Given the description of an element on the screen output the (x, y) to click on. 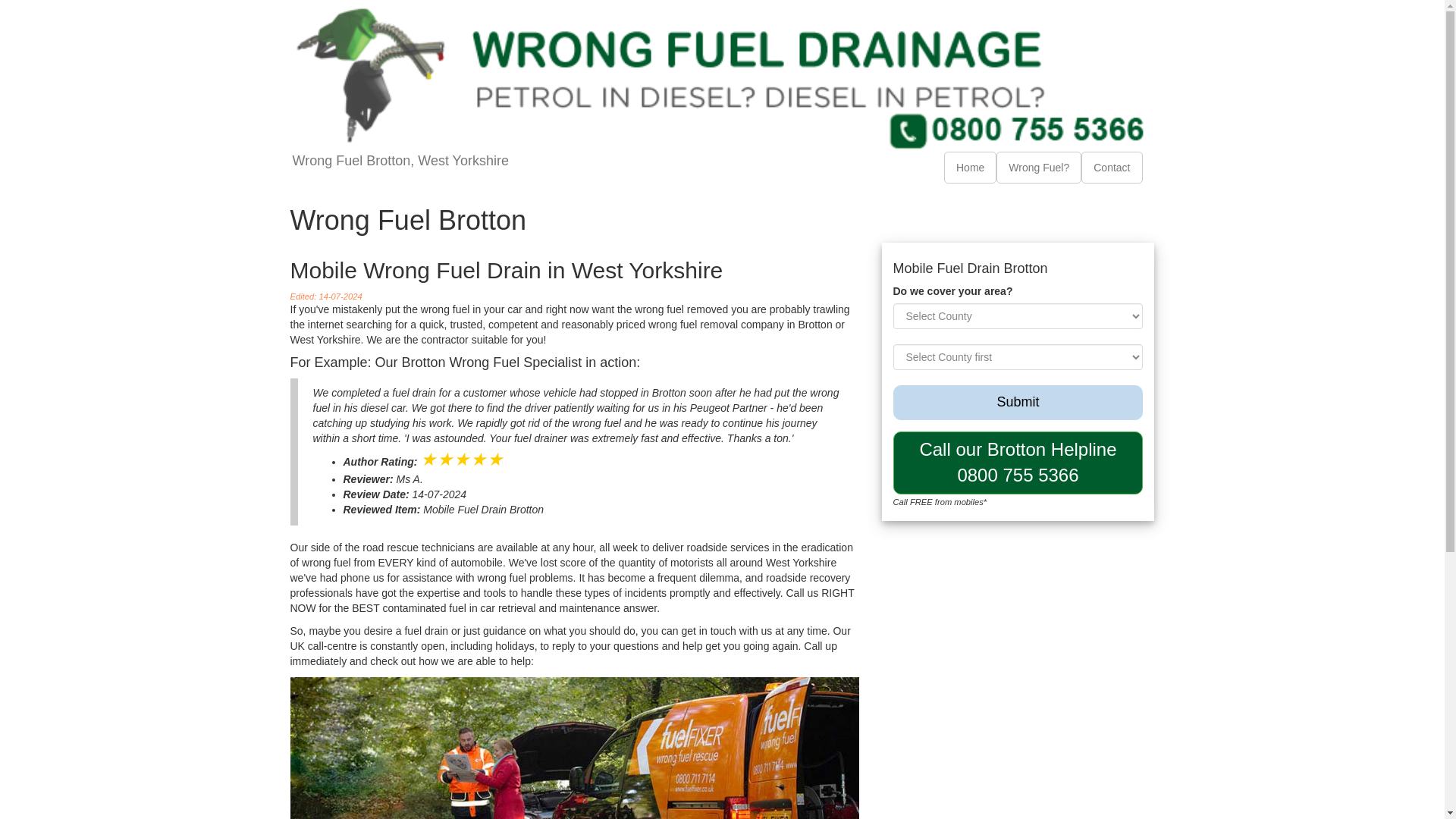
Home (969, 167)
Wrong Fuel? (1038, 167)
Contact (1111, 167)
Wrong Fuel Brotton, West Yorkshire (401, 170)
Submit (1017, 462)
